Given the description of an element on the screen output the (x, y) to click on. 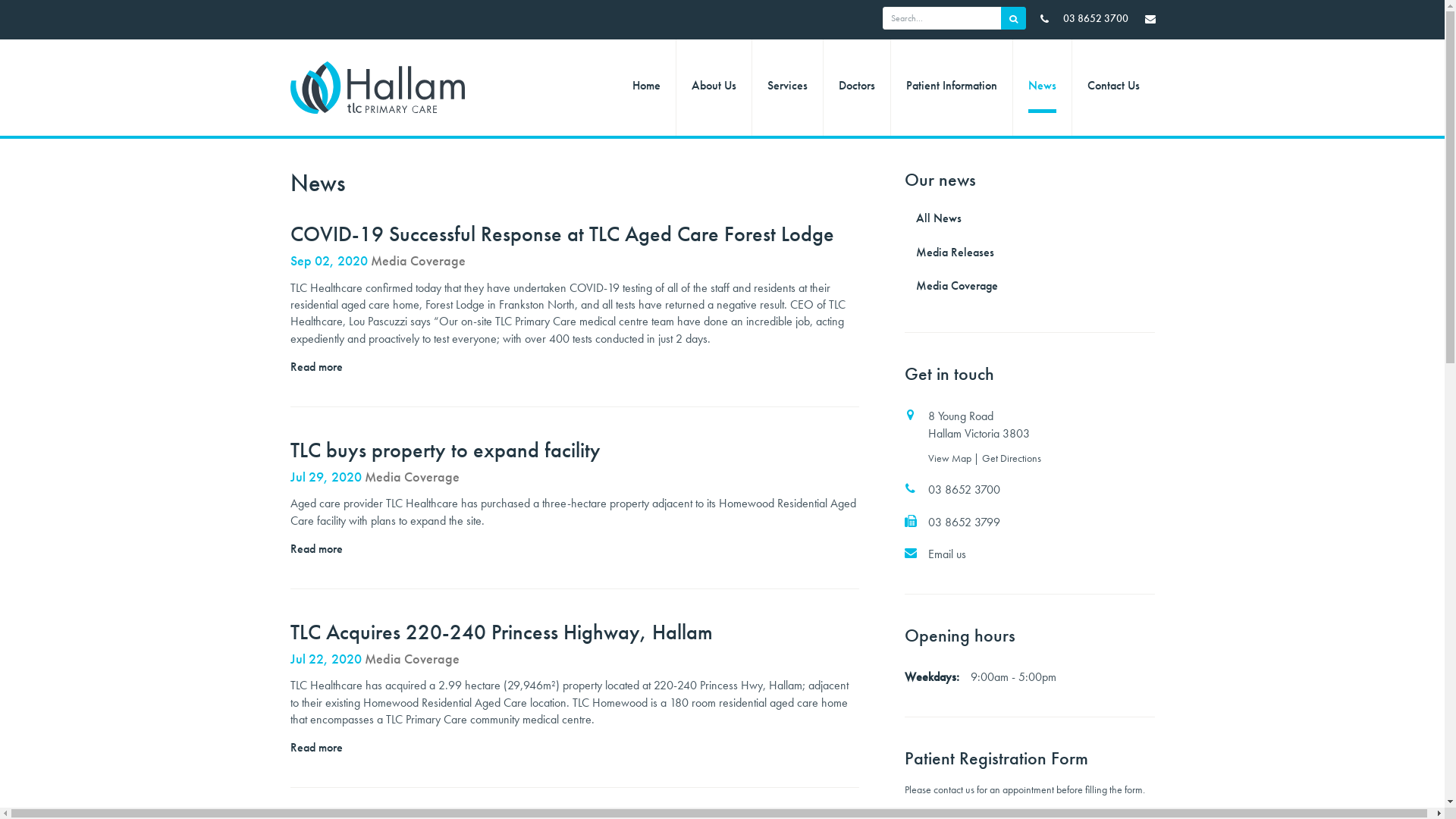
TLC buys property to expand facility Element type: text (444, 449)
Patient Information Element type: text (950, 87)
TLC Primary Care - Hallam | Logo Element type: hover (384, 87)
Read more Element type: text (315, 366)
Read more Element type: text (315, 747)
View Map Element type: text (950, 457)
All News Element type: text (1029, 218)
 03 8652 3700 Element type: text (1084, 17)
TLC Primary Care - Hallam | Email Us Element type: hover (1150, 18)
Services Element type: text (787, 87)
About Us Element type: text (713, 87)
Doctors Element type: text (856, 87)
Get Directions Element type: text (1011, 457)
Media Coverage Element type: text (1029, 285)
03 8652 3700 Element type: text (1029, 489)
Read more Element type: text (315, 548)
Media Releases Element type: text (1029, 252)
Email us Element type: text (1029, 554)
News Element type: text (1042, 87)
COVID-19 Successful Response at TLC Aged Care Forest Lodge Element type: text (561, 233)
TLC Acquires 220-240 Princess Highway, Hallam Element type: text (500, 631)
Home Element type: text (646, 87)
Contact Us Element type: text (1113, 87)
